Given the description of an element on the screen output the (x, y) to click on. 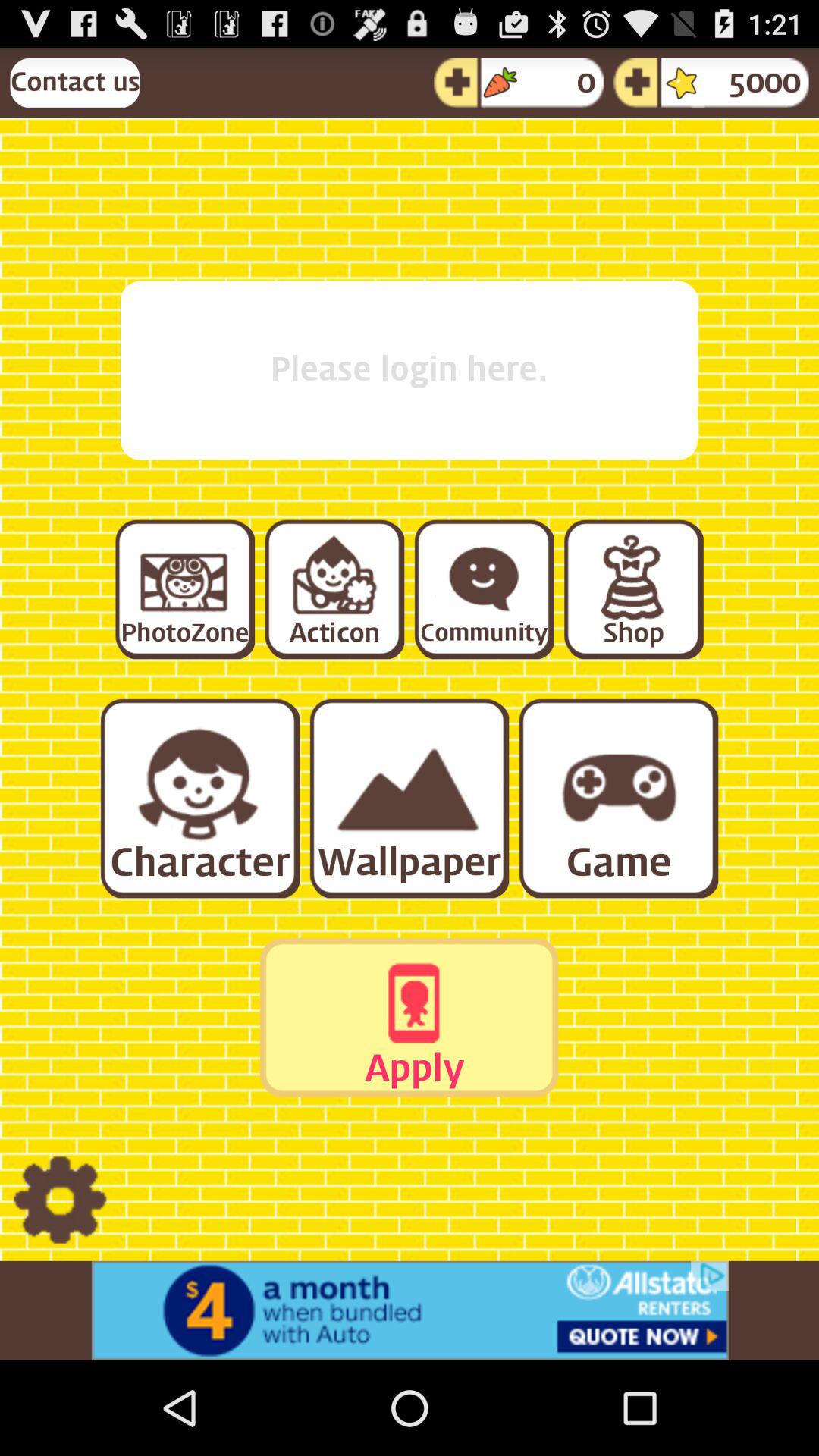
click on wallpaper (408, 797)
